Given the description of an element on the screen output the (x, y) to click on. 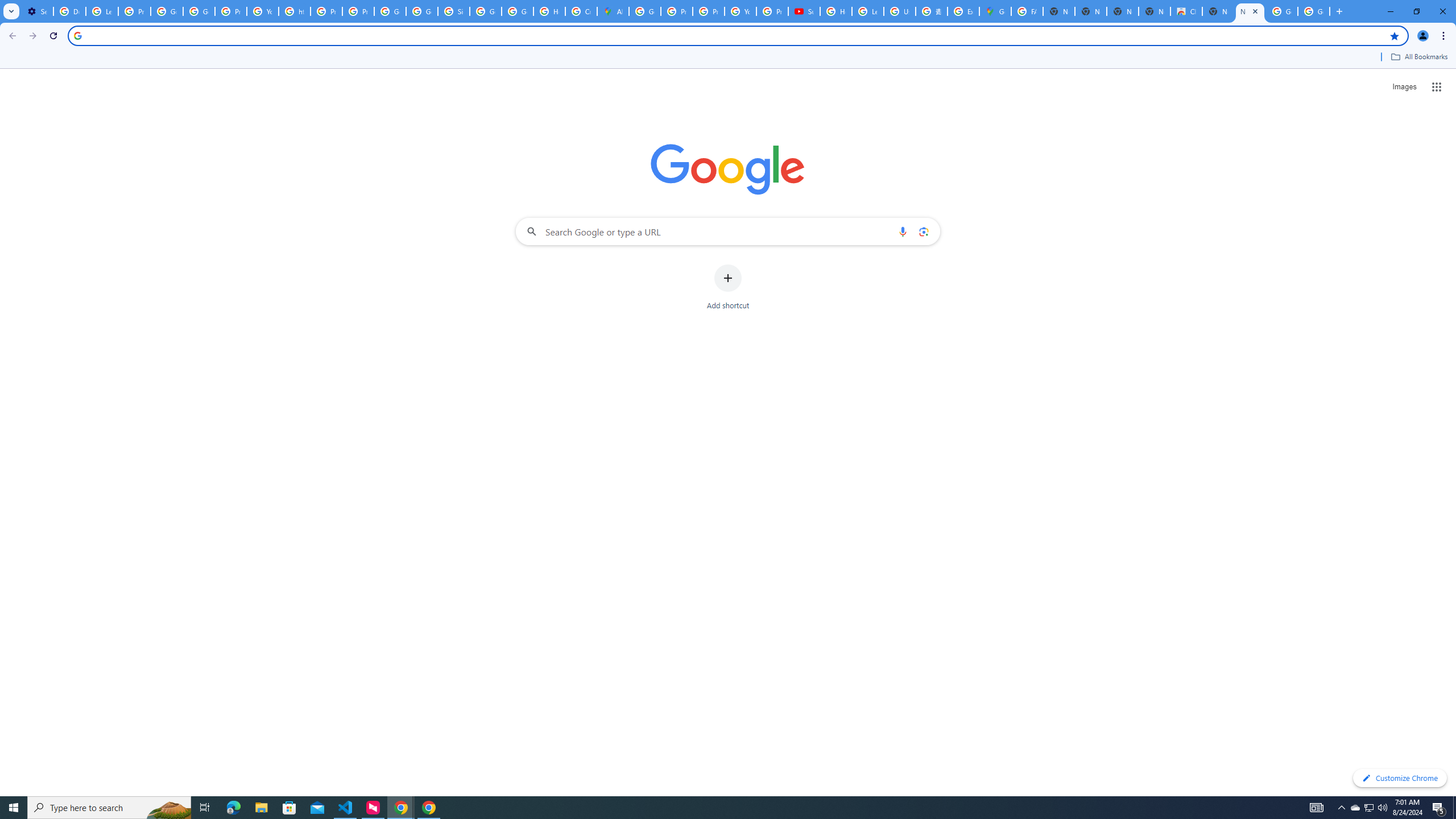
How Chrome protects your passwords - Google Chrome Help (836, 11)
New Tab (1249, 11)
Subscriptions - YouTube (804, 11)
